Given the description of an element on the screen output the (x, y) to click on. 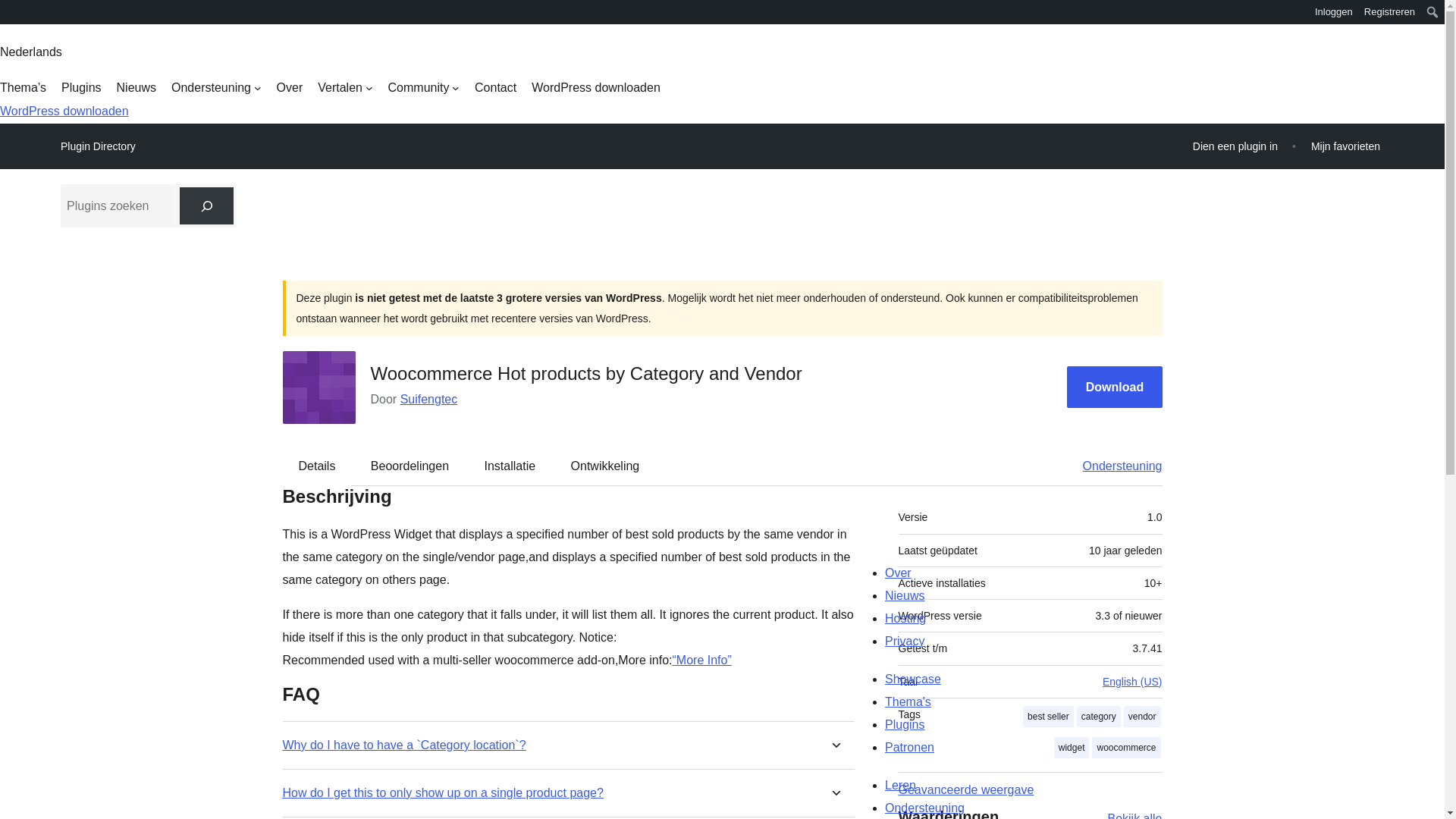
Ondersteuning (216, 87)
WordPress.org (10, 10)
Mijn favorieten (1345, 145)
Over (289, 87)
WordPress downloaden (64, 110)
Download (1114, 386)
Installatie (509, 466)
WordPress.org (10, 16)
Details (316, 466)
Suifengtec (429, 399)
